Given the description of an element on the screen output the (x, y) to click on. 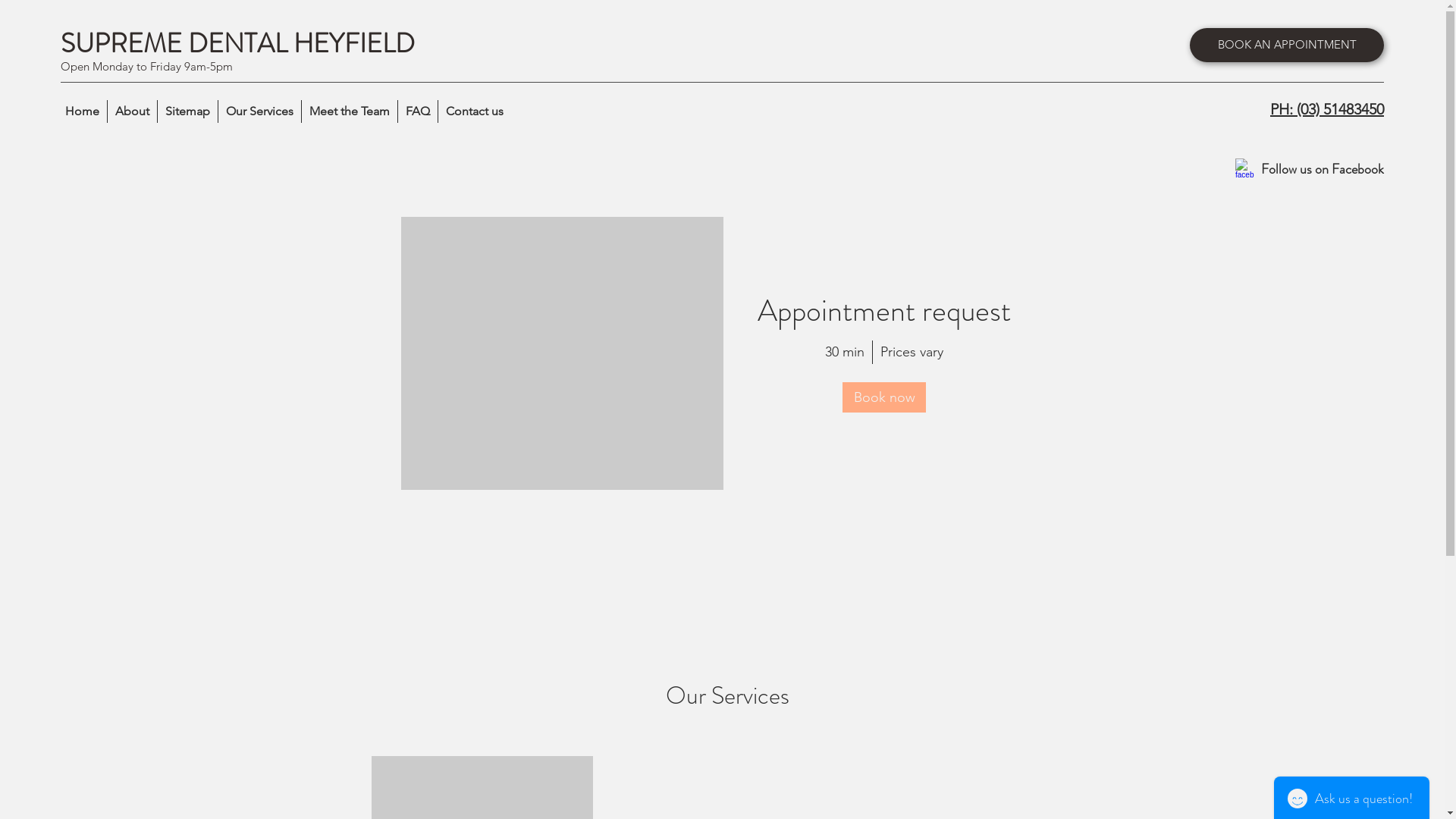
PH: (03) 51483450 Element type: text (1326, 109)
Follow us on Facebook Element type: text (1322, 168)
Home Element type: text (81, 111)
Contact us Element type: text (474, 111)
About Element type: text (131, 111)
FAQ Element type: text (417, 111)
BOOK AN APPOINTMENT Element type: text (1286, 45)
SUPREME DENTAL HEYFIELD Element type: text (237, 43)
Book now Element type: text (883, 397)
Sitemap Element type: text (186, 111)
Our Services Element type: text (259, 111)
Meet the Team Element type: text (349, 111)
